Given the description of an element on the screen output the (x, y) to click on. 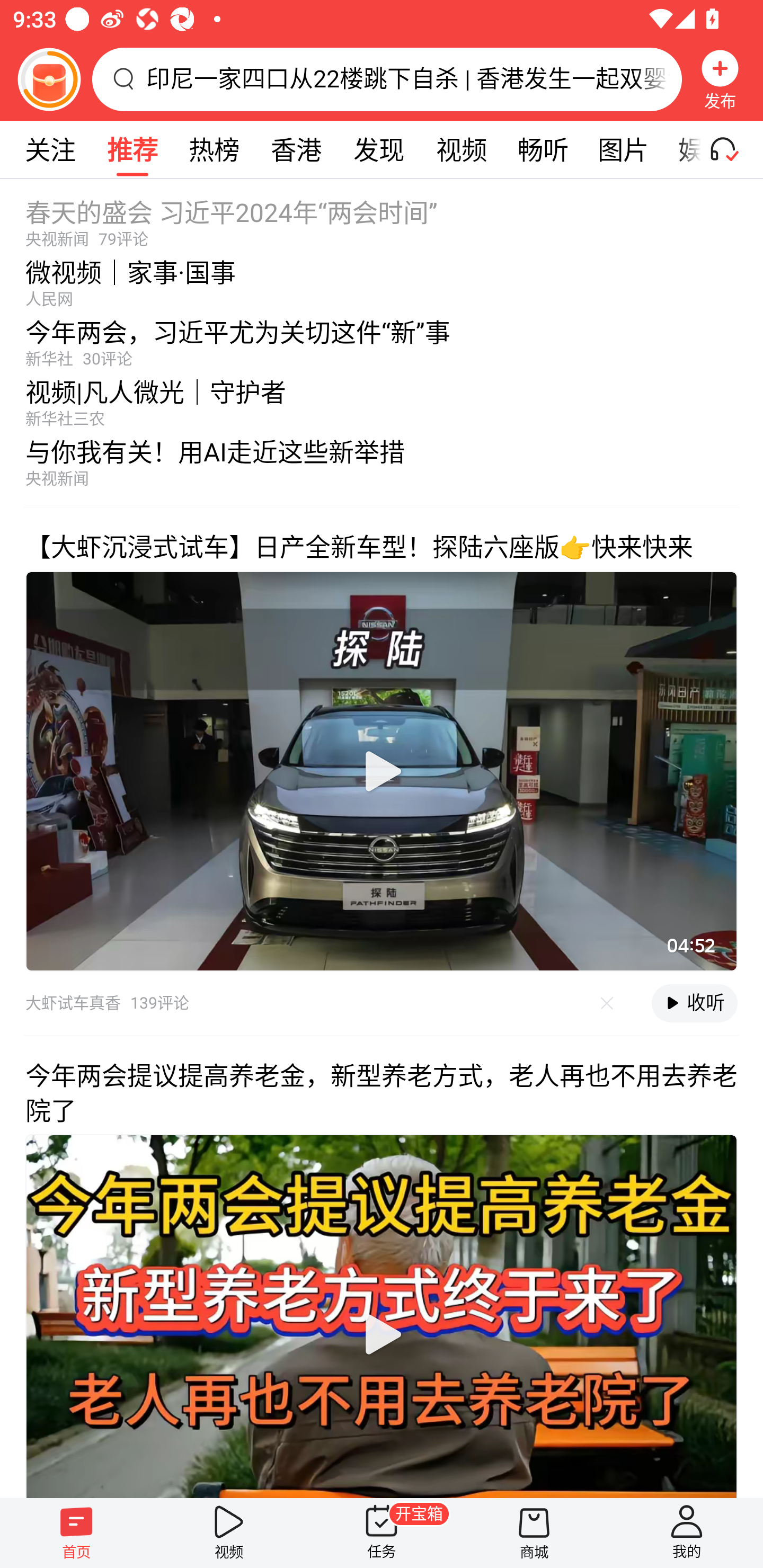
阅读赚金币 (48, 79)
发布 发布，按钮 (720, 78)
关注 (50, 149)
推荐 (132, 149)
热榜 (213, 149)
香港 (295, 149)
发现 (378, 149)
视频 (461, 149)
畅听 (542, 149)
图片 (623, 149)
听一听开关 (732, 149)
微视频｜家事·国事人民网 视频 微视频｜家事·国事 人民网 (381, 277)
视频|凡人微光｜守护者新华社三农 文章 视频|凡人微光｜守护者 新华社三农 (381, 398)
与你我有关！用AI走近这些新举措央视新闻 文章 与你我有关！用AI走近这些新举措 央视新闻 (381, 467)
播放视频 视频播放器，双击屏幕打开播放控制 (381, 771)
播放视频 (381, 771)
收听 (694, 1003)
不感兴趣 (607, 1003)
播放视频 视频播放器，双击屏幕打开播放控制 (381, 1315)
播放视频 (381, 1334)
首页 (76, 1532)
视频 (228, 1532)
任务 开宝箱 (381, 1532)
商城 (533, 1532)
我的 (686, 1532)
